Given the description of an element on the screen output the (x, y) to click on. 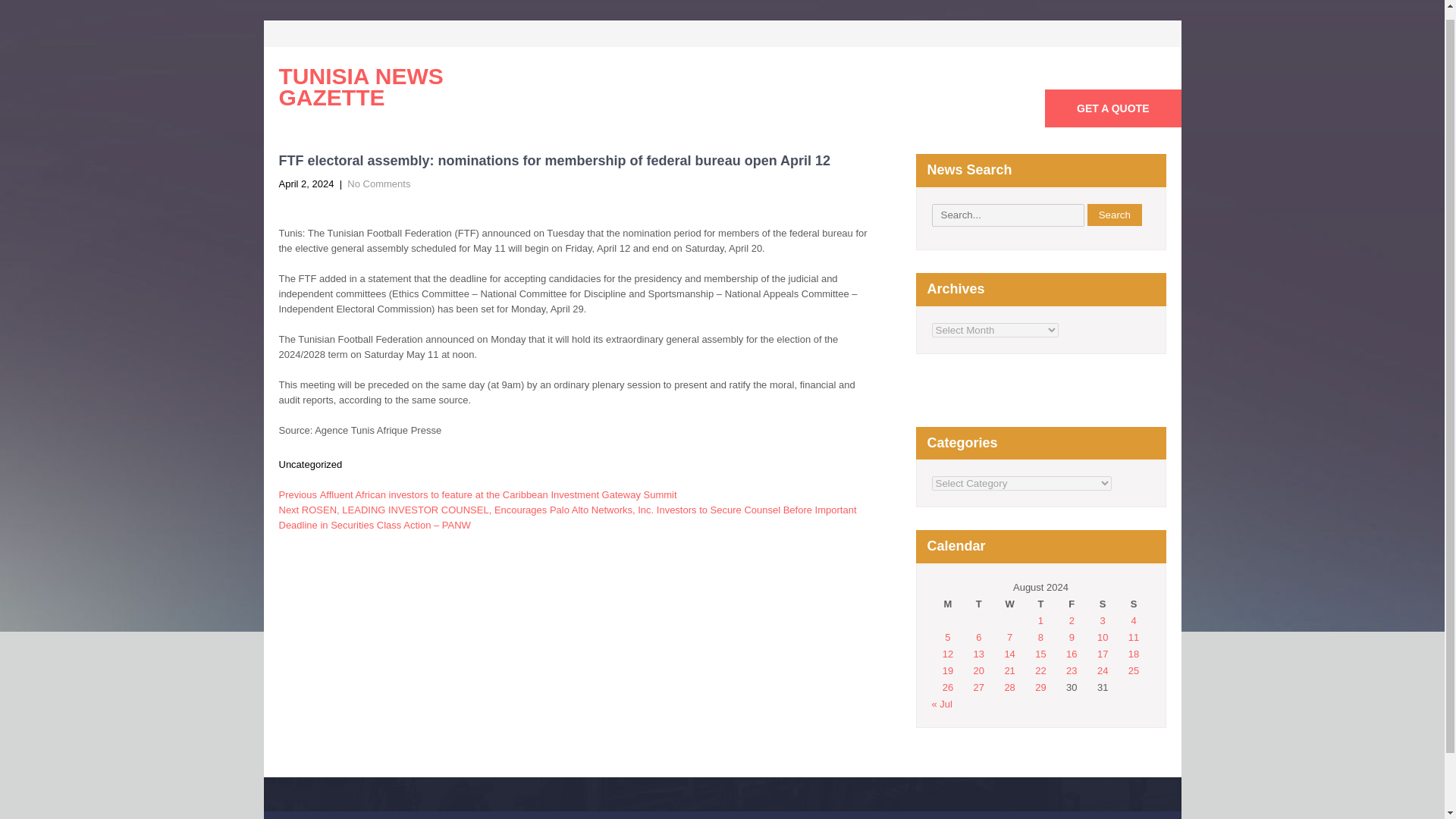
Monday (947, 604)
12 (947, 654)
20 (979, 670)
15 (1040, 654)
29 (1040, 686)
Tuesday (977, 604)
TUNISIA NEWS GAZETTE (389, 87)
Search (1114, 214)
22 (1040, 670)
